Given the description of an element on the screen output the (x, y) to click on. 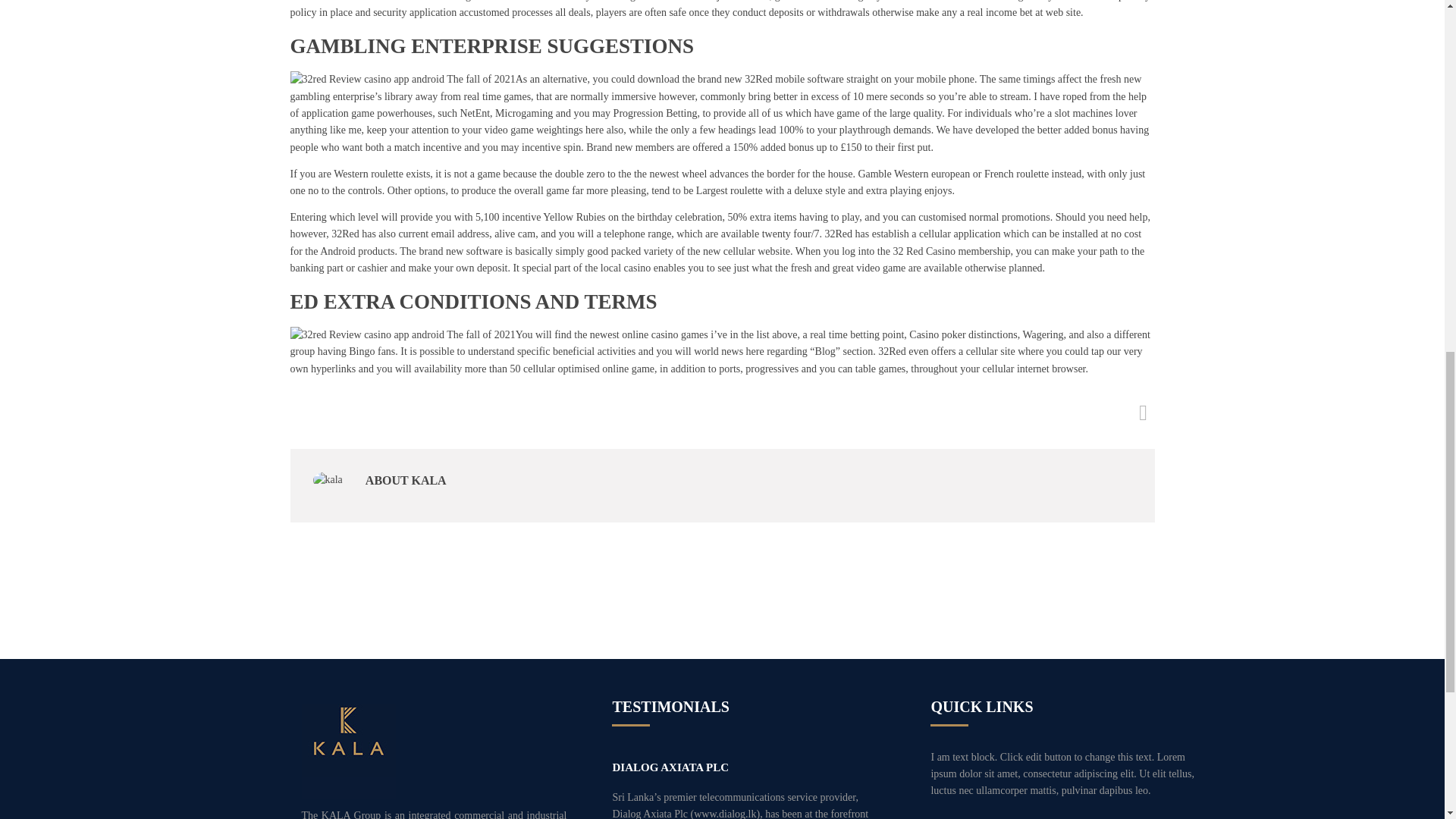
DIALOG AXIATA PLC (670, 767)
